Given the description of an element on the screen output the (x, y) to click on. 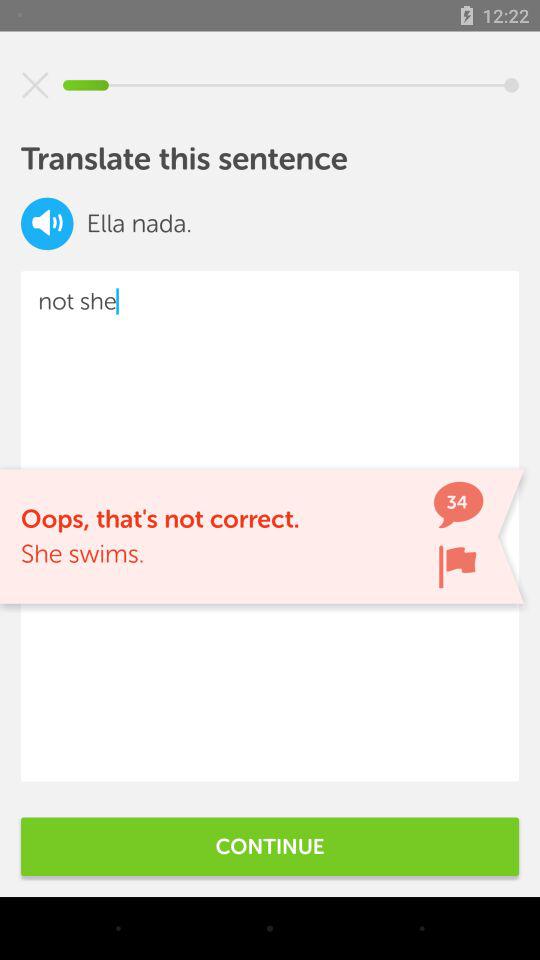
launch item to the right of oops that s item (457, 566)
